Given the description of an element on the screen output the (x, y) to click on. 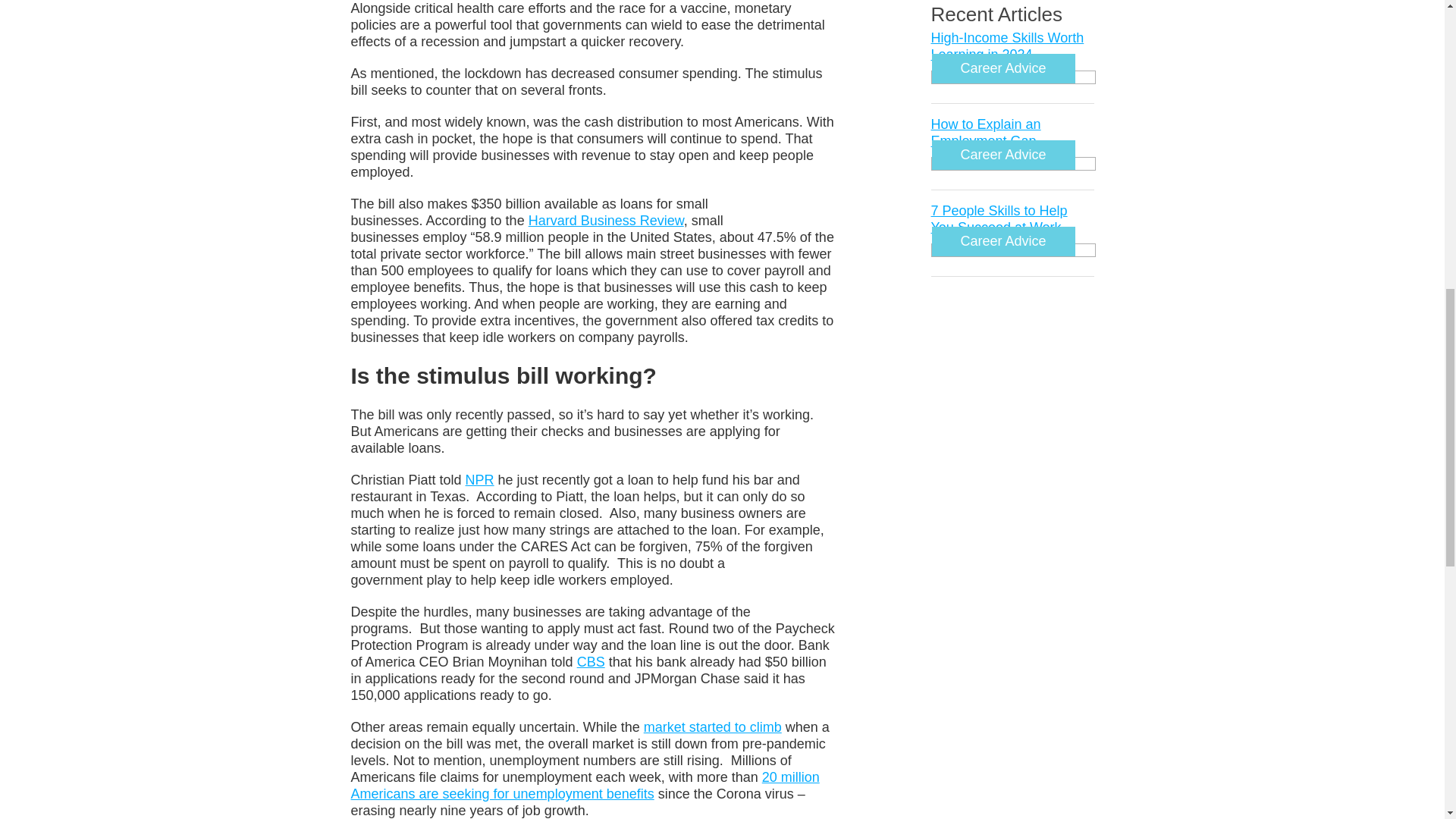
CBS (590, 661)
NPR (480, 479)
market started to climb (712, 726)
Harvard Business Review (606, 220)
20 million Americans are seeking for unemployment benefits (584, 785)
